Given the description of an element on the screen output the (x, y) to click on. 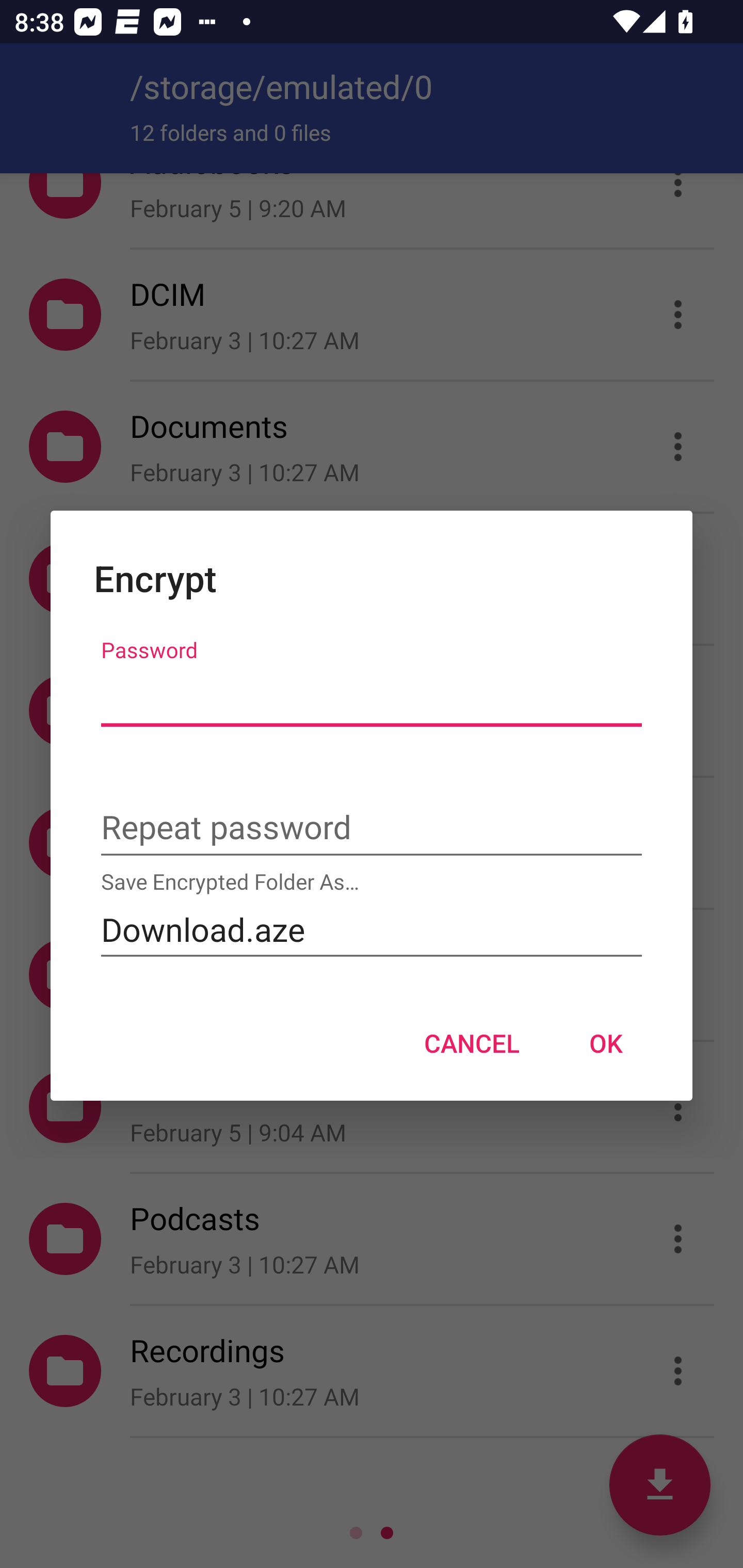
Password (371, 697)
Repeat password (371, 829)
Download.aze (371, 929)
CANCEL (470, 1043)
OK (605, 1043)
